Given the description of an element on the screen output the (x, y) to click on. 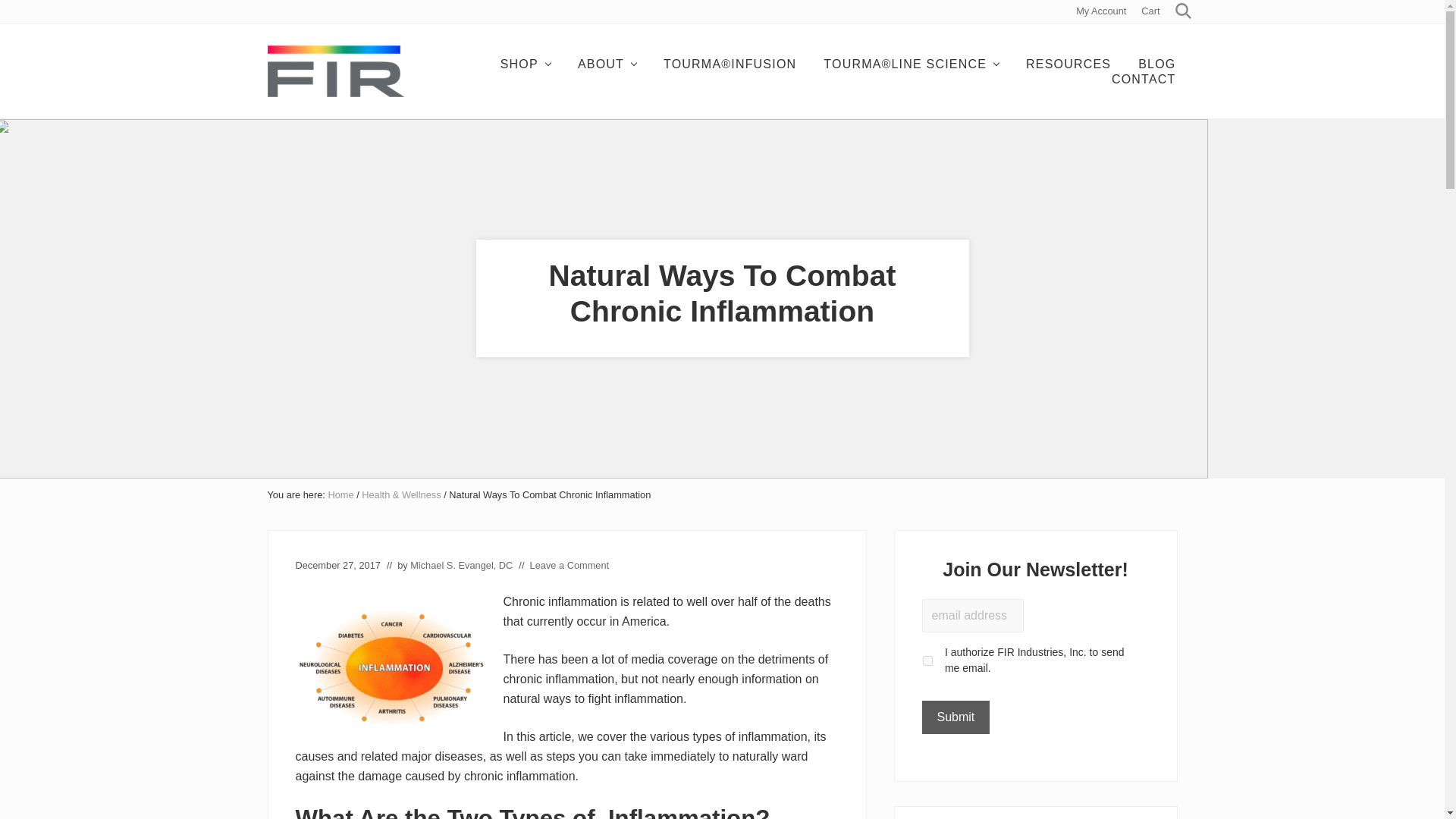
ABOUT (606, 64)
Leave a Comment (569, 564)
BLOG (1156, 64)
CONTACT (1143, 79)
1 (926, 660)
RESOURCES (1067, 64)
My Account (1101, 11)
Search (1181, 11)
SHOP (524, 64)
Cart (1150, 11)
Submit (955, 717)
